Given the description of an element on the screen output the (x, y) to click on. 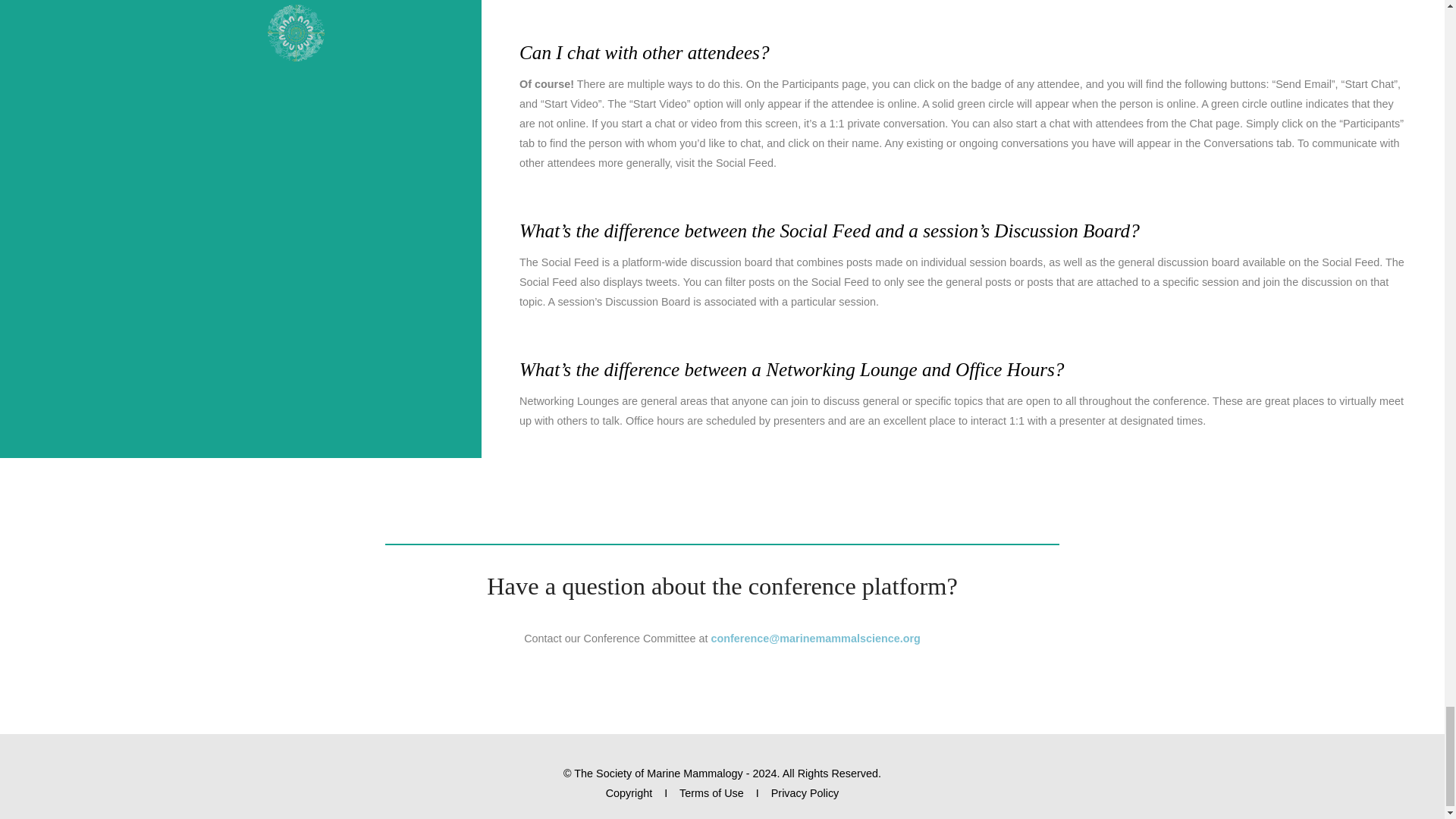
Privacy Policy (805, 793)
Terms of Use (711, 793)
Copyright (628, 793)
Have a question about the conference platform? (722, 585)
